Given the description of an element on the screen output the (x, y) to click on. 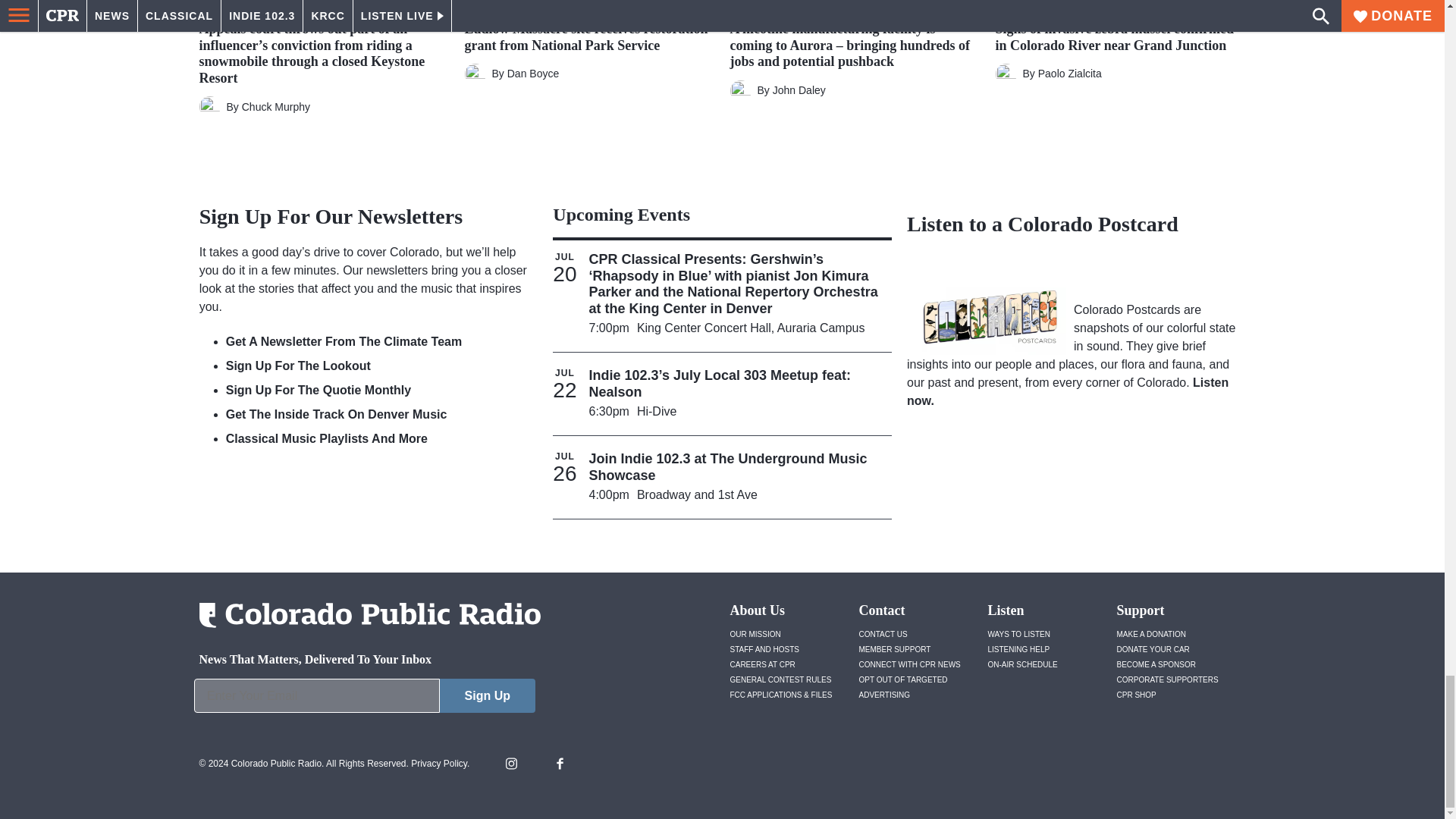
footer (364, 699)
